Given the description of an element on the screen output the (x, y) to click on. 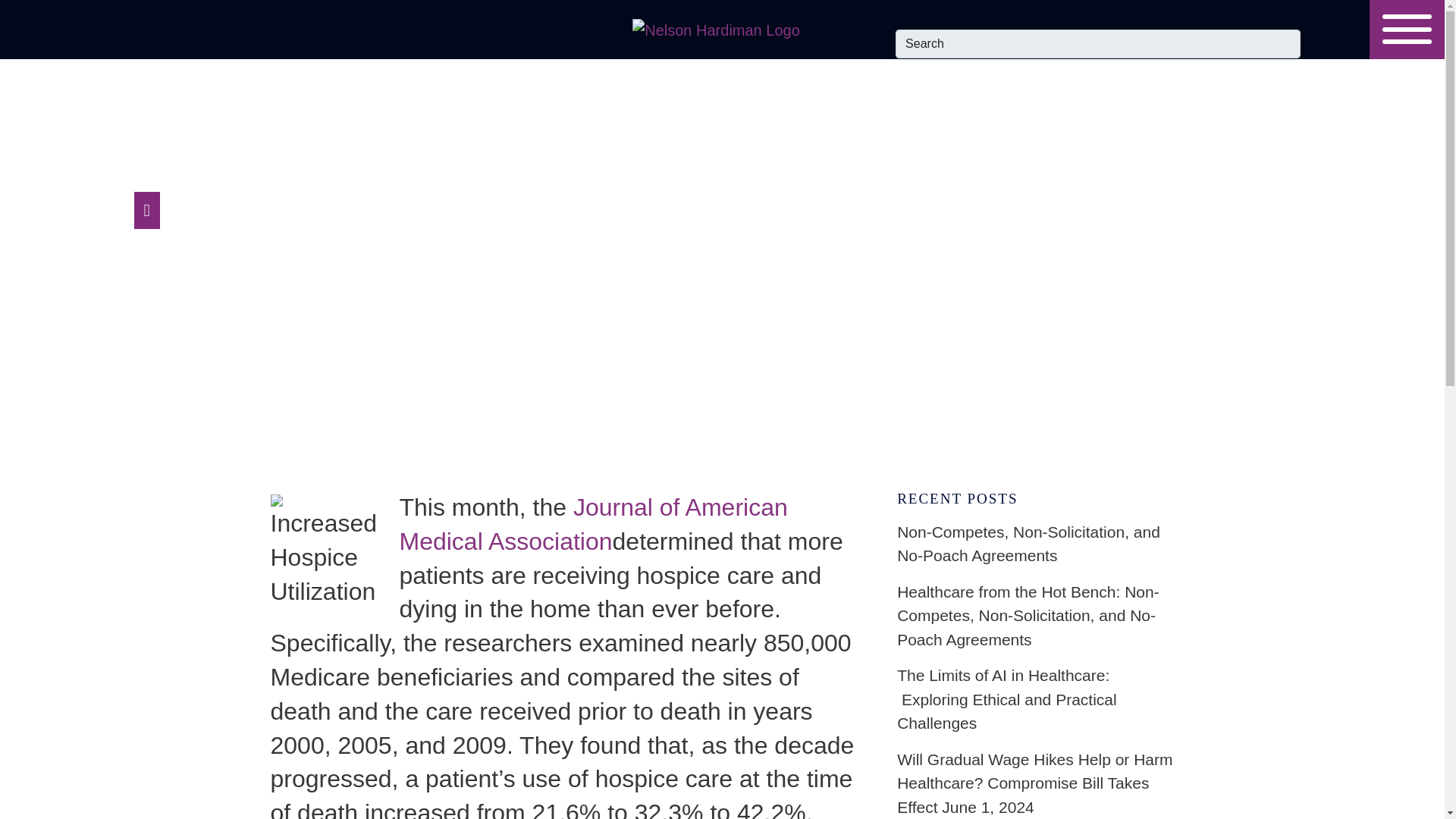
Non-Competes, Non-Solicitation, and No-Poach Agreements (1034, 544)
Type and press Enter to search. (1097, 43)
Journal of American Medical Association (592, 524)
Search (1097, 43)
Search (1097, 43)
